Given the description of an element on the screen output the (x, y) to click on. 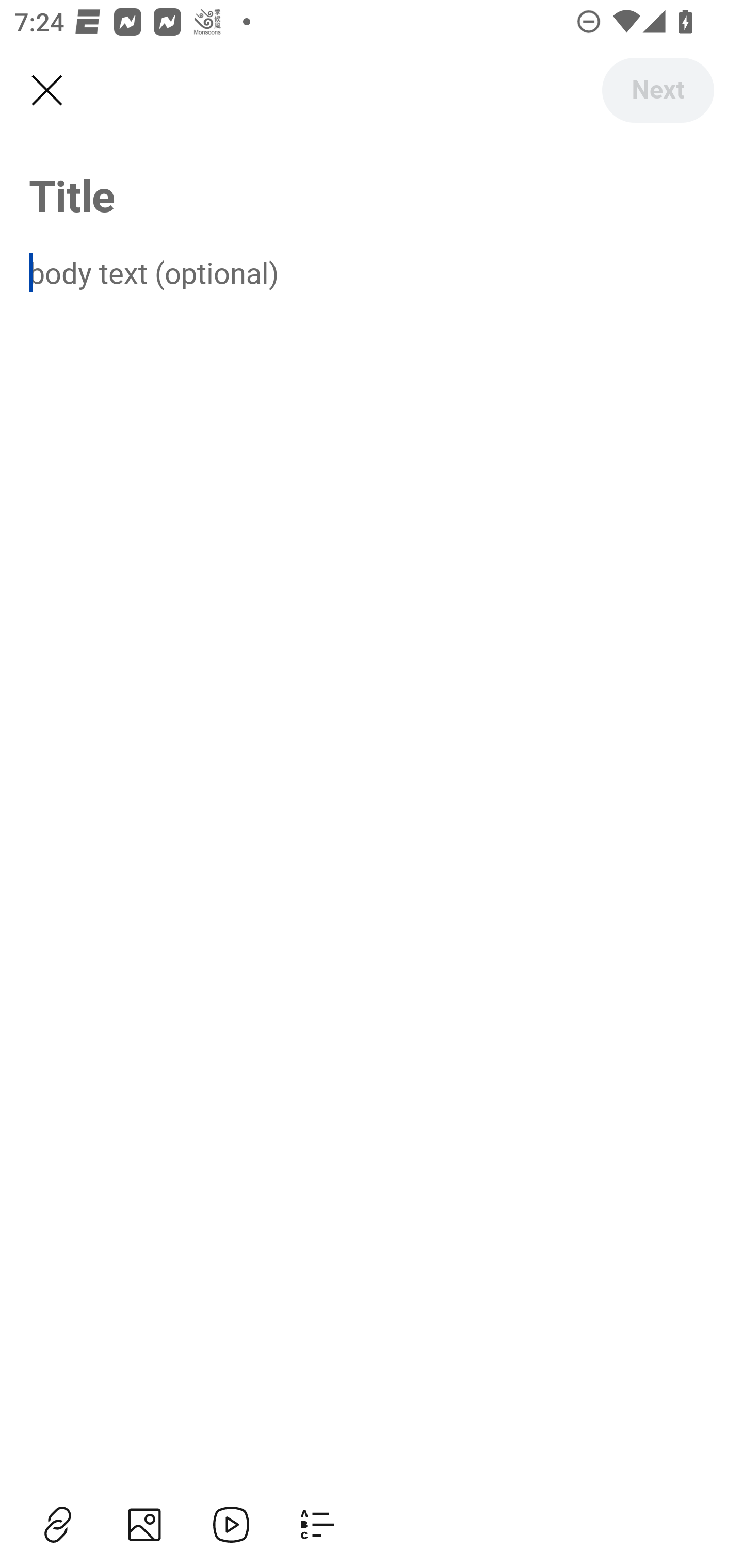
Close (46, 90)
Next (657, 90)
Post title (371, 195)
body text (optional) (371, 271)
